Given the description of an element on the screen output the (x, y) to click on. 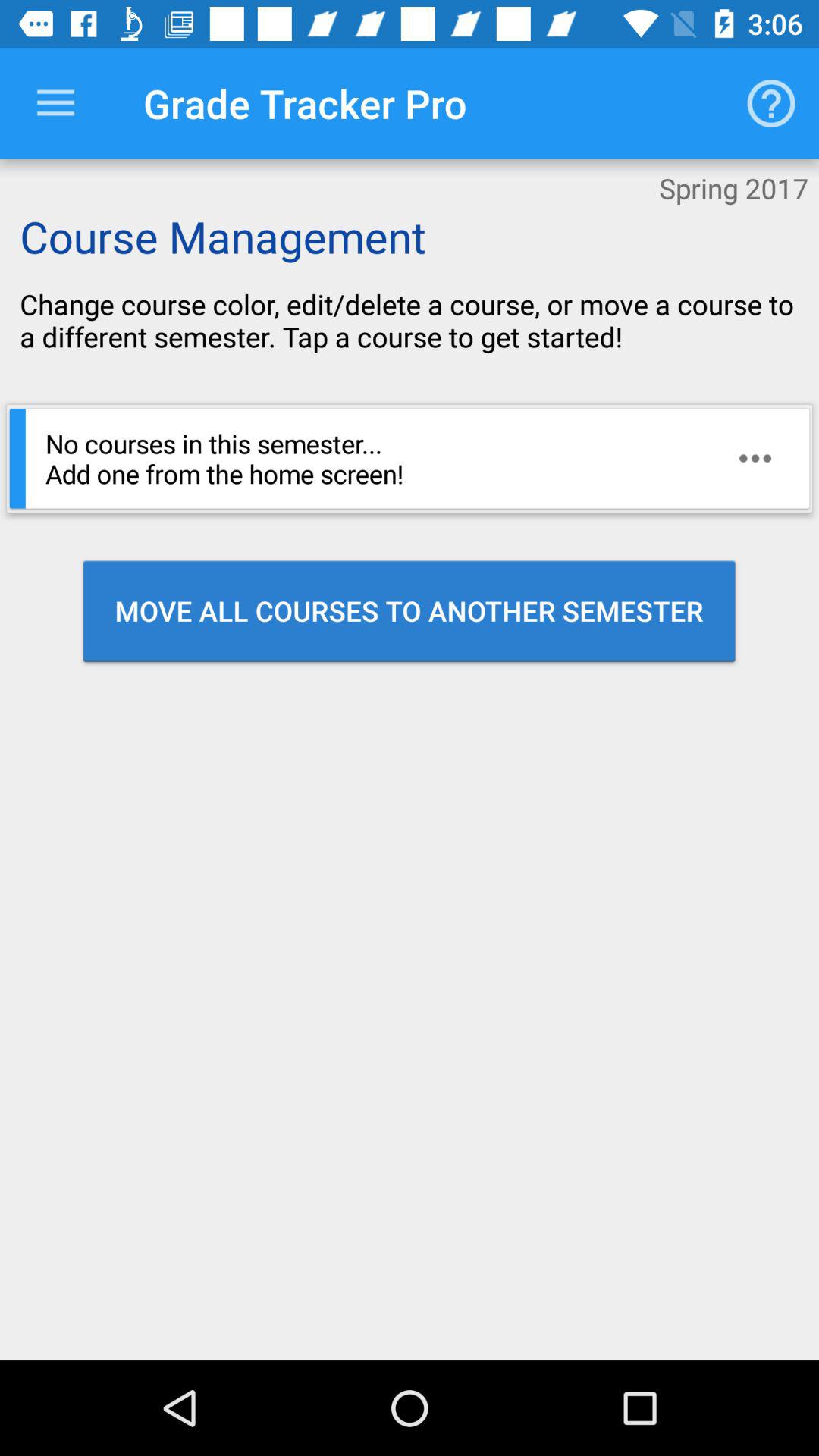
launch the icon to the right of the grade tracker pro icon (771, 103)
